Given the description of an element on the screen output the (x, y) to click on. 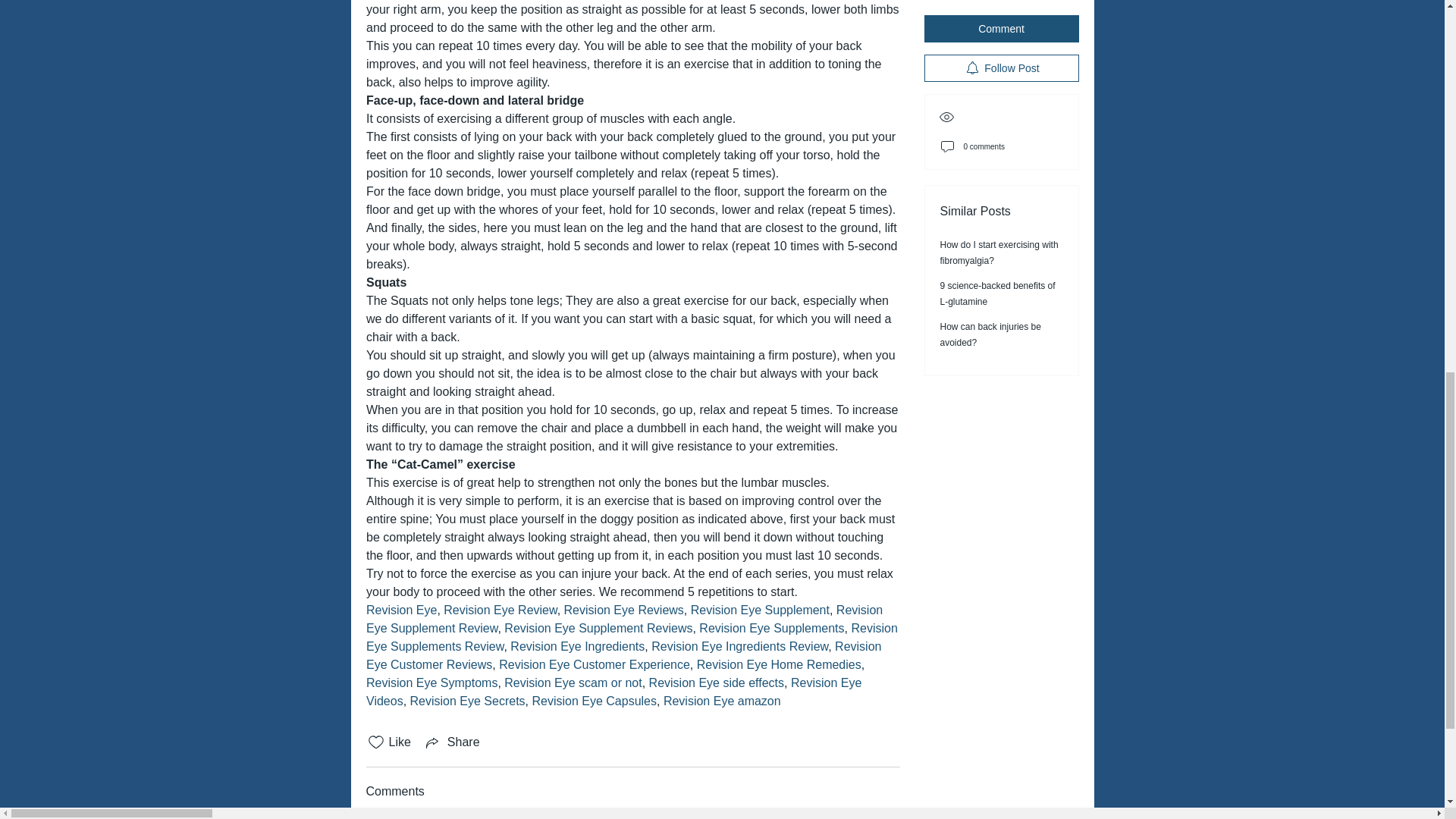
Revision Eye Reviews (622, 609)
Revision Eye Review (500, 609)
Revision Eye Supplement Review (625, 618)
Revision Eye Supplement (759, 609)
Revision Eye (400, 609)
Revision Eye Supplement Reviews (598, 627)
